Given the description of an element on the screen output the (x, y) to click on. 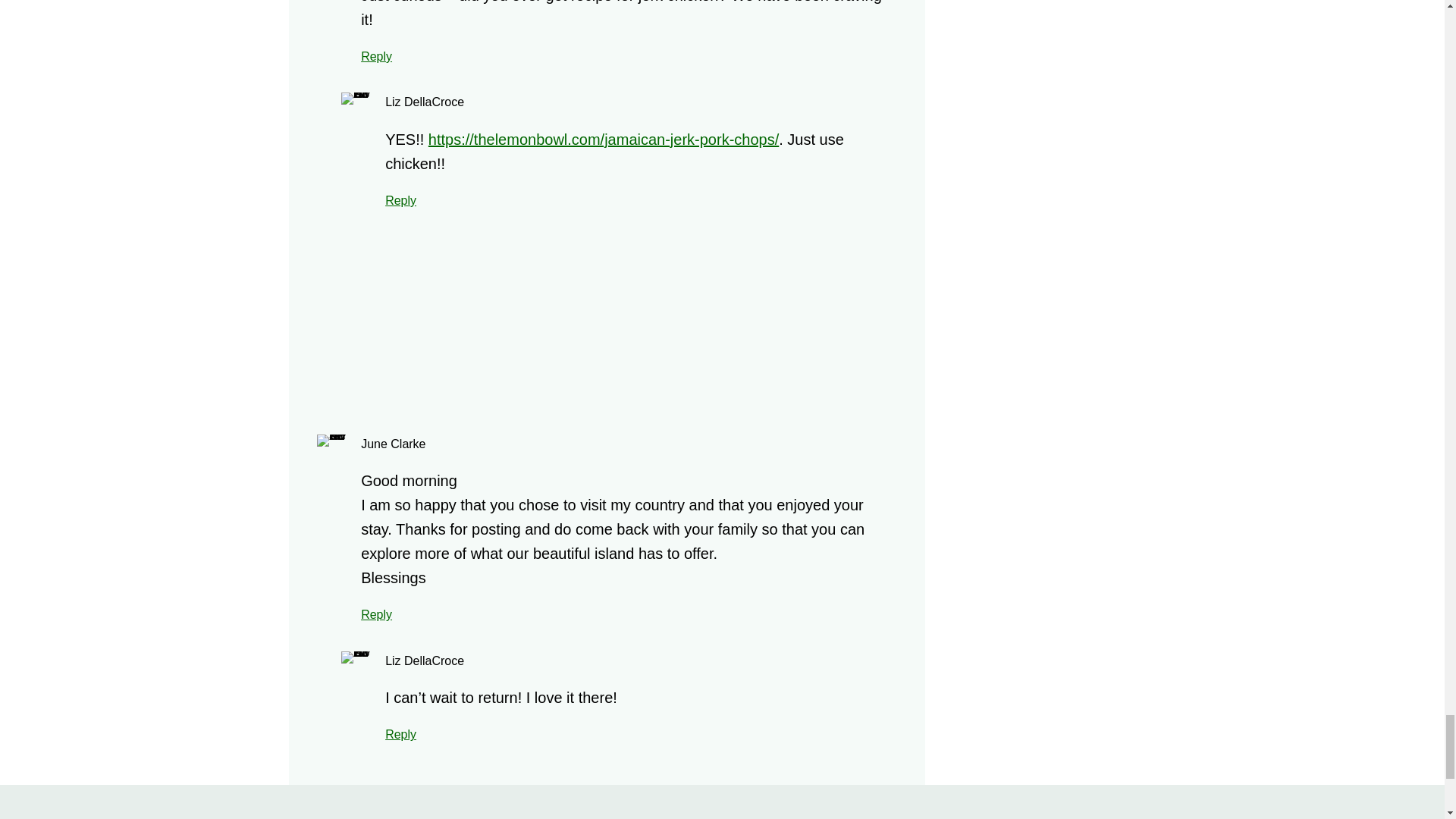
Reply (400, 200)
Reply (376, 614)
Reply (400, 734)
Reply (376, 56)
